Given the description of an element on the screen output the (x, y) to click on. 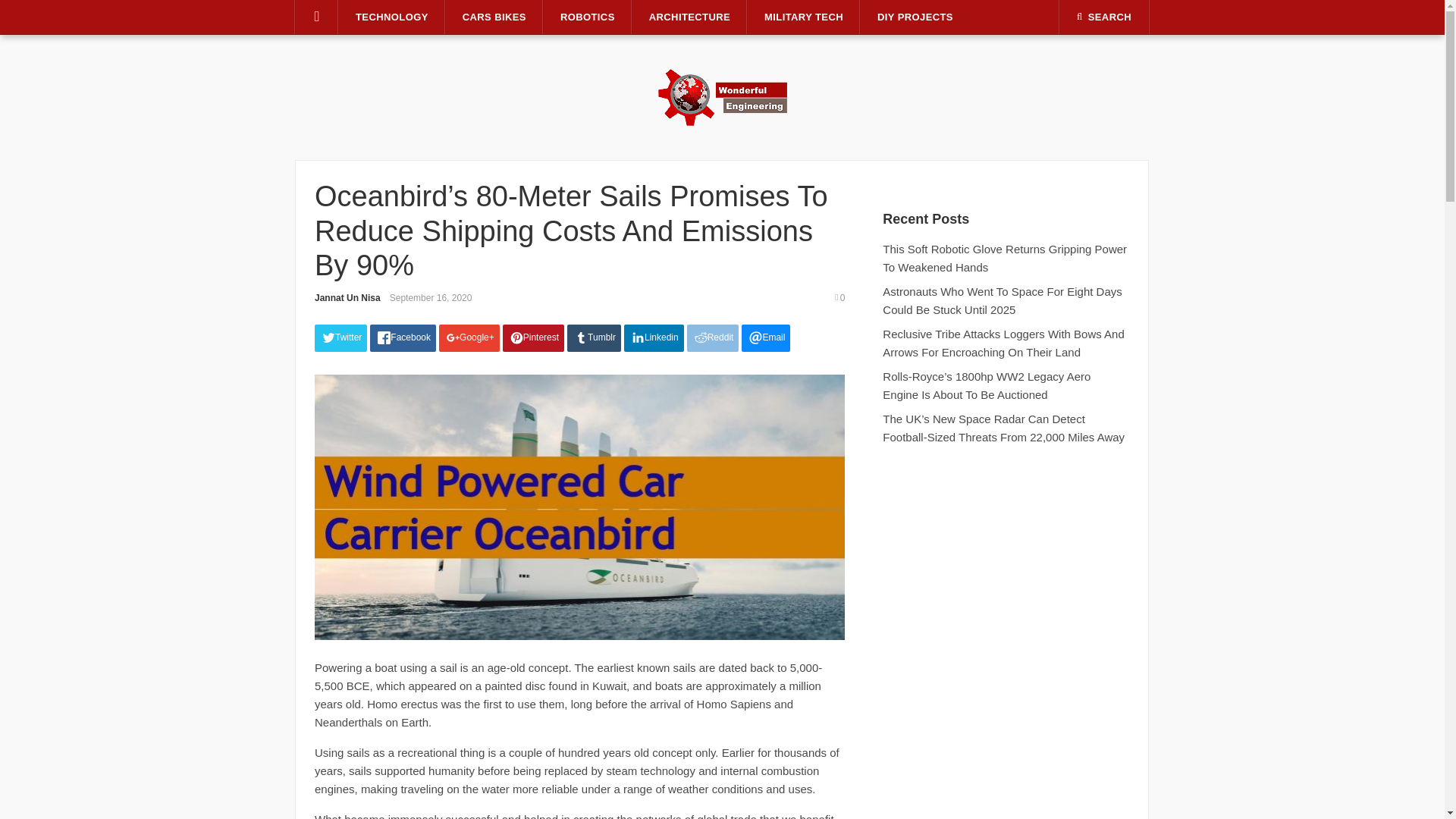
CARS BIKES (494, 17)
SEARCH (1104, 16)
Twitter (340, 338)
Tumblr (594, 338)
Facebook (402, 338)
ROBOTICS (587, 17)
Linkedin (654, 338)
MILITARY TECH (804, 17)
Email (765, 338)
Pinterest (533, 338)
